Given the description of an element on the screen output the (x, y) to click on. 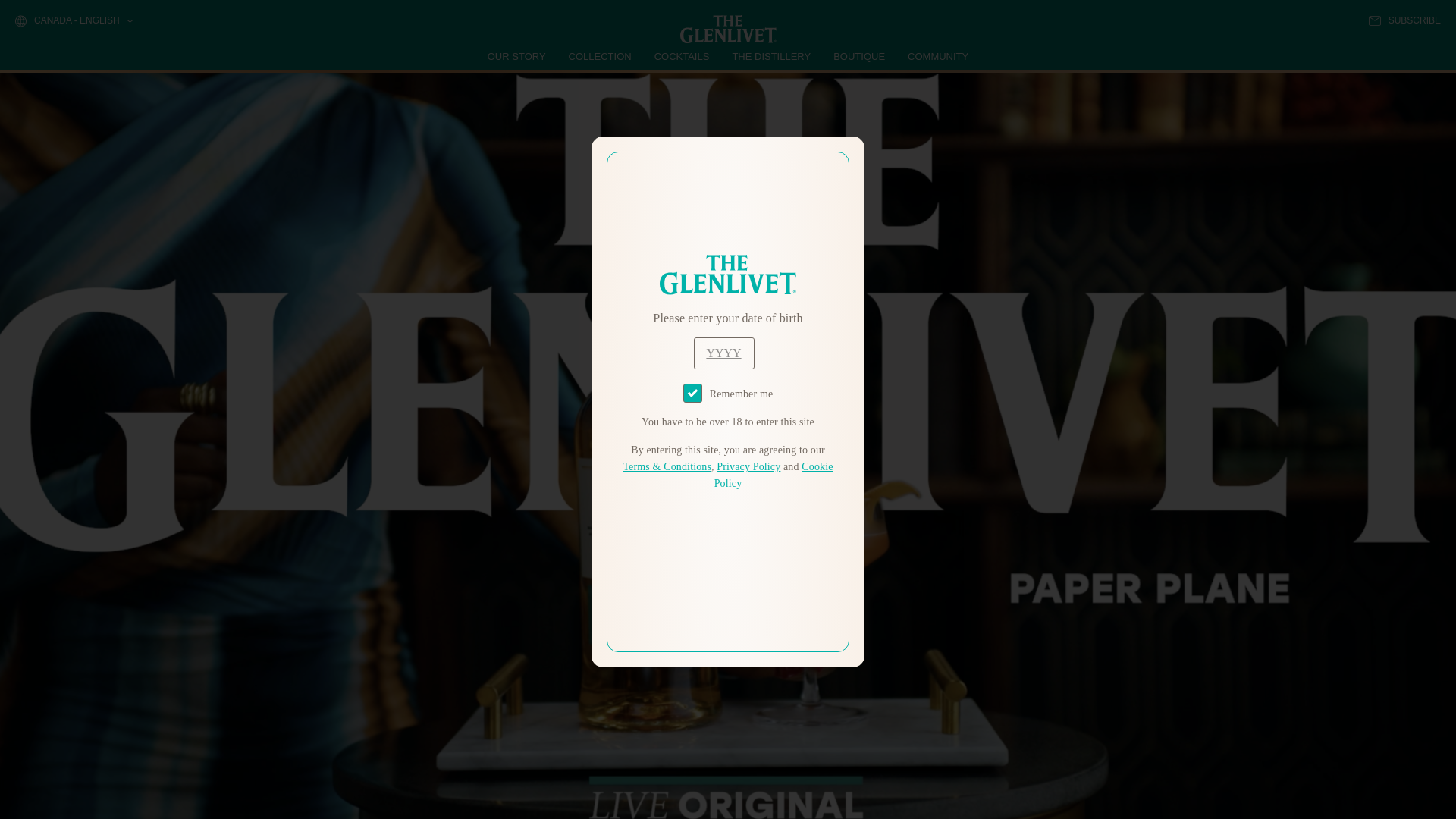
THE DISTILLERY (771, 56)
COCKTAILS (681, 56)
Cookie Policy (773, 474)
BOUTIQUE (858, 56)
SUBSCRIBE (1404, 20)
COLLECTION (600, 56)
year (723, 353)
COMMUNITY (937, 56)
CANADA - ENGLISH (73, 21)
OUR STORY (516, 56)
